Given the description of an element on the screen output the (x, y) to click on. 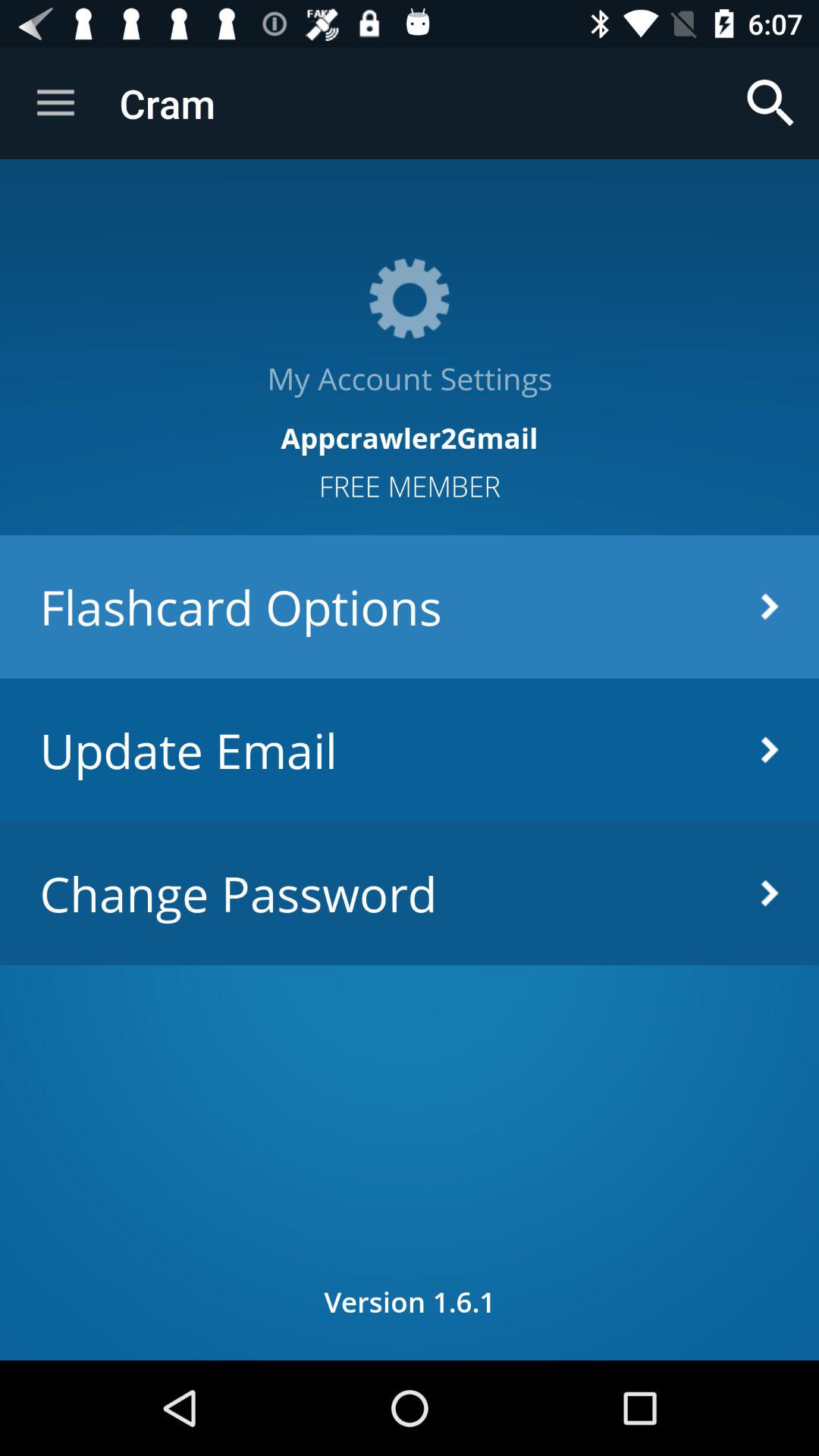
tap the icon above update email item (409, 606)
